Given the description of an element on the screen output the (x, y) to click on. 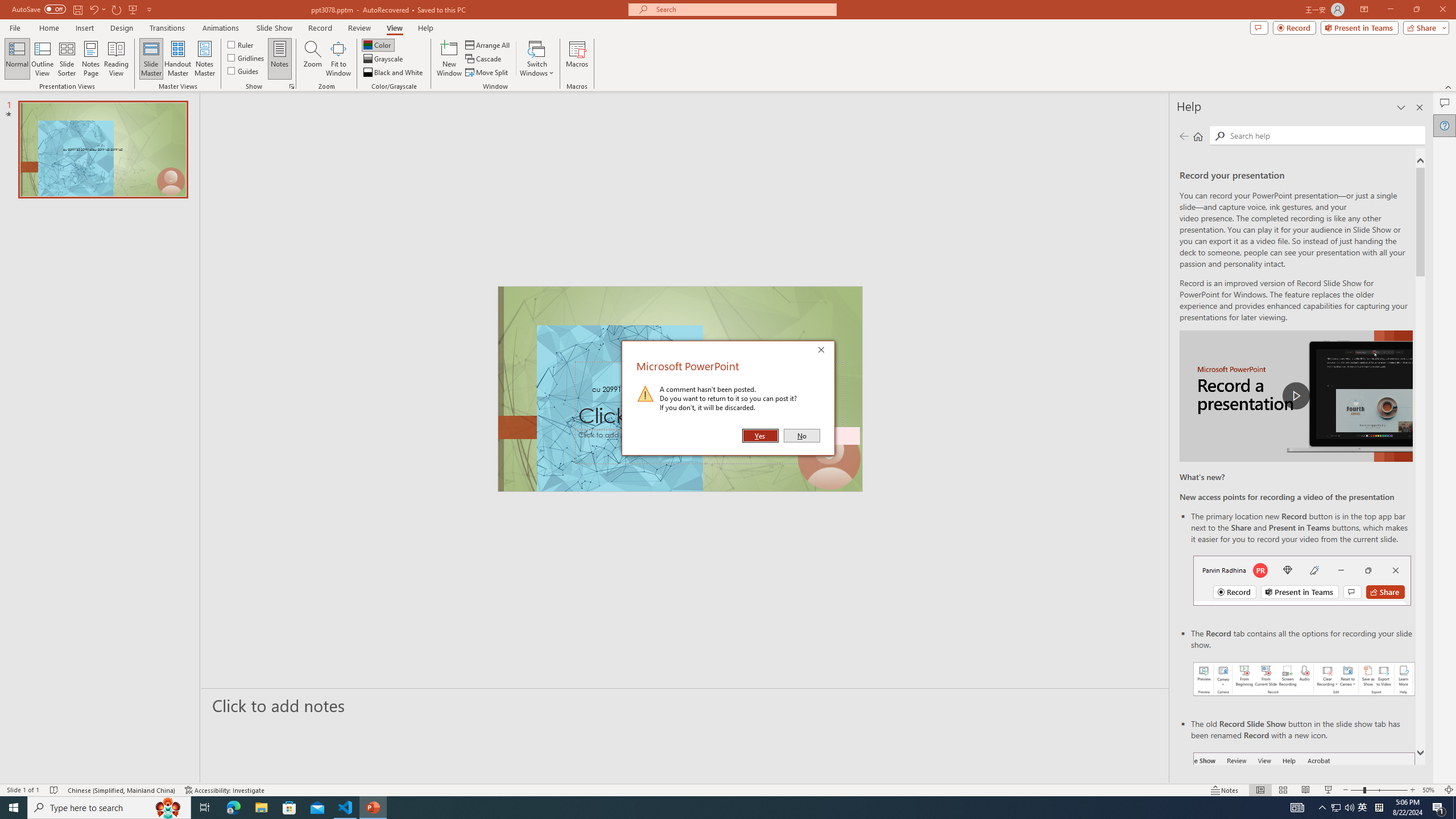
Accessibility Checker Accessibility: Investigate (224, 790)
Minimize (1390, 9)
Normal (1260, 790)
Close pane (1419, 107)
Help (1444, 125)
Notification Chevron (1322, 807)
Ruler (241, 44)
Comments (1444, 102)
Microsoft Store (289, 807)
More Options (103, 9)
Save (77, 9)
Notes Master (204, 58)
Customize Quick Access Toolbar (149, 9)
